Given the description of an element on the screen output the (x, y) to click on. 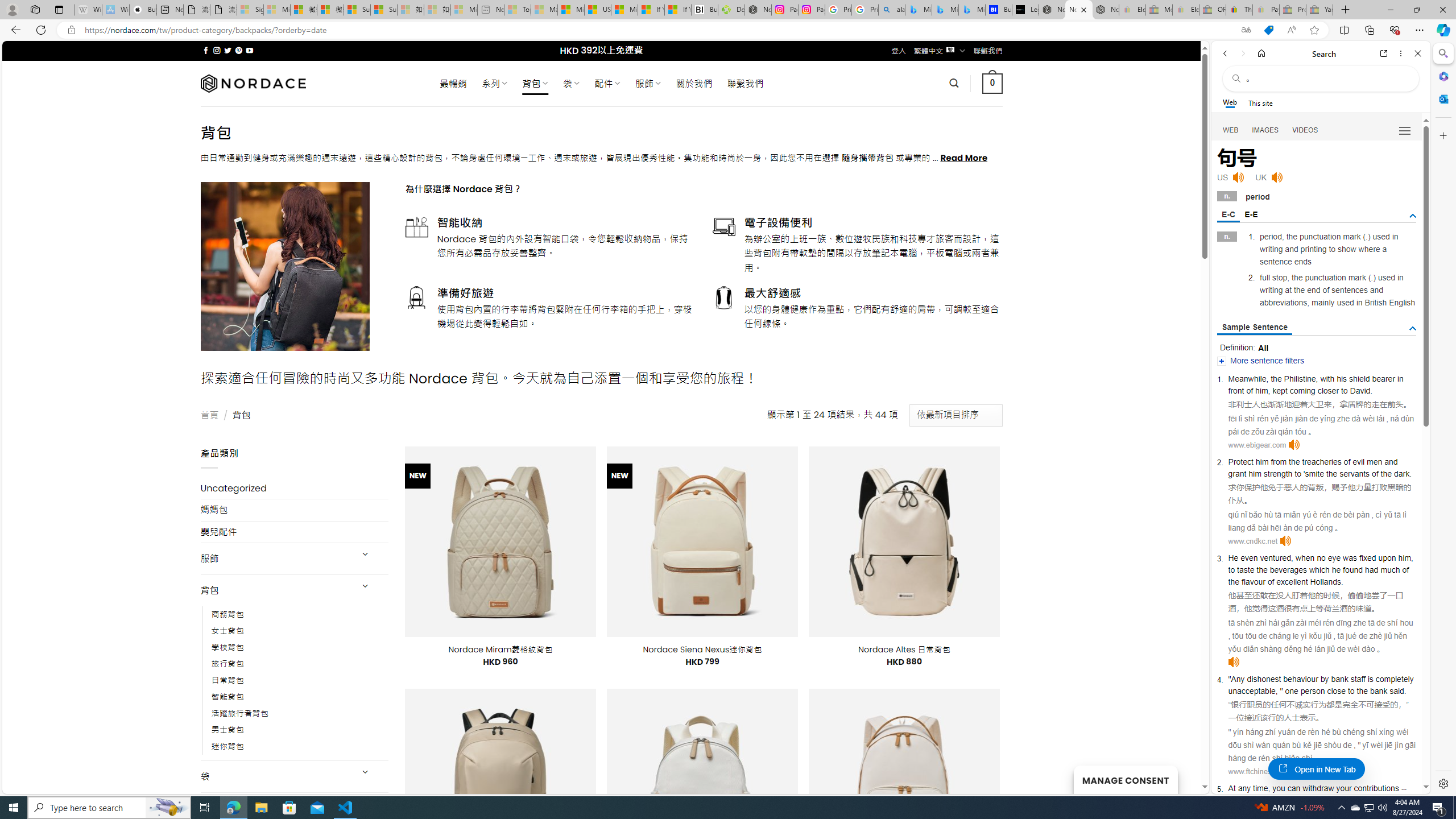
www.ftchinese.com (1259, 771)
coming (1303, 390)
Buy iPad - Apple (143, 9)
person (1312, 690)
